Given the description of an element on the screen output the (x, y) to click on. 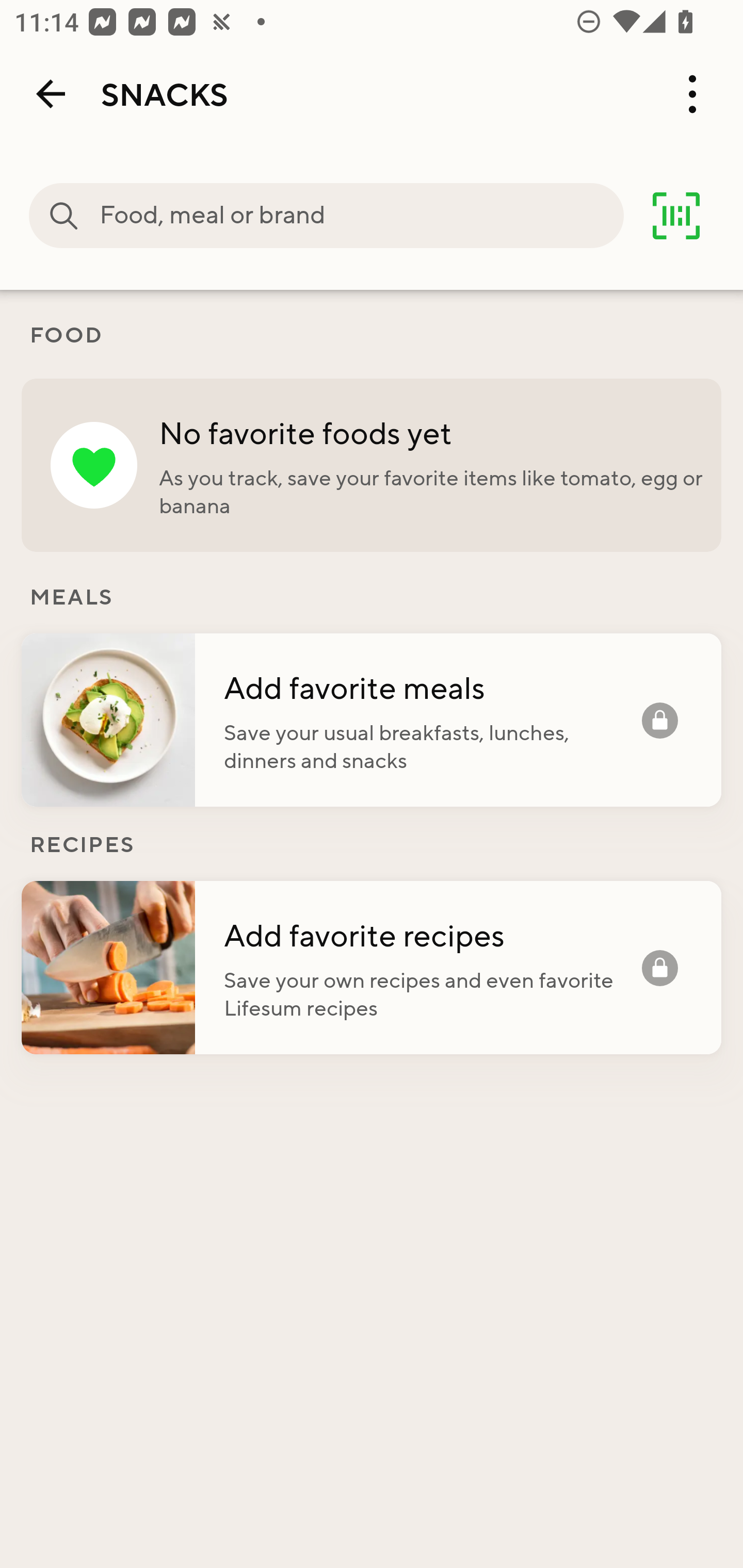
Back (50, 93)
Food, meal or brand (63, 215)
Food, meal or brand (361, 215)
Add favorite meals (432, 686)
Add favorite recipes (432, 934)
